Given the description of an element on the screen output the (x, y) to click on. 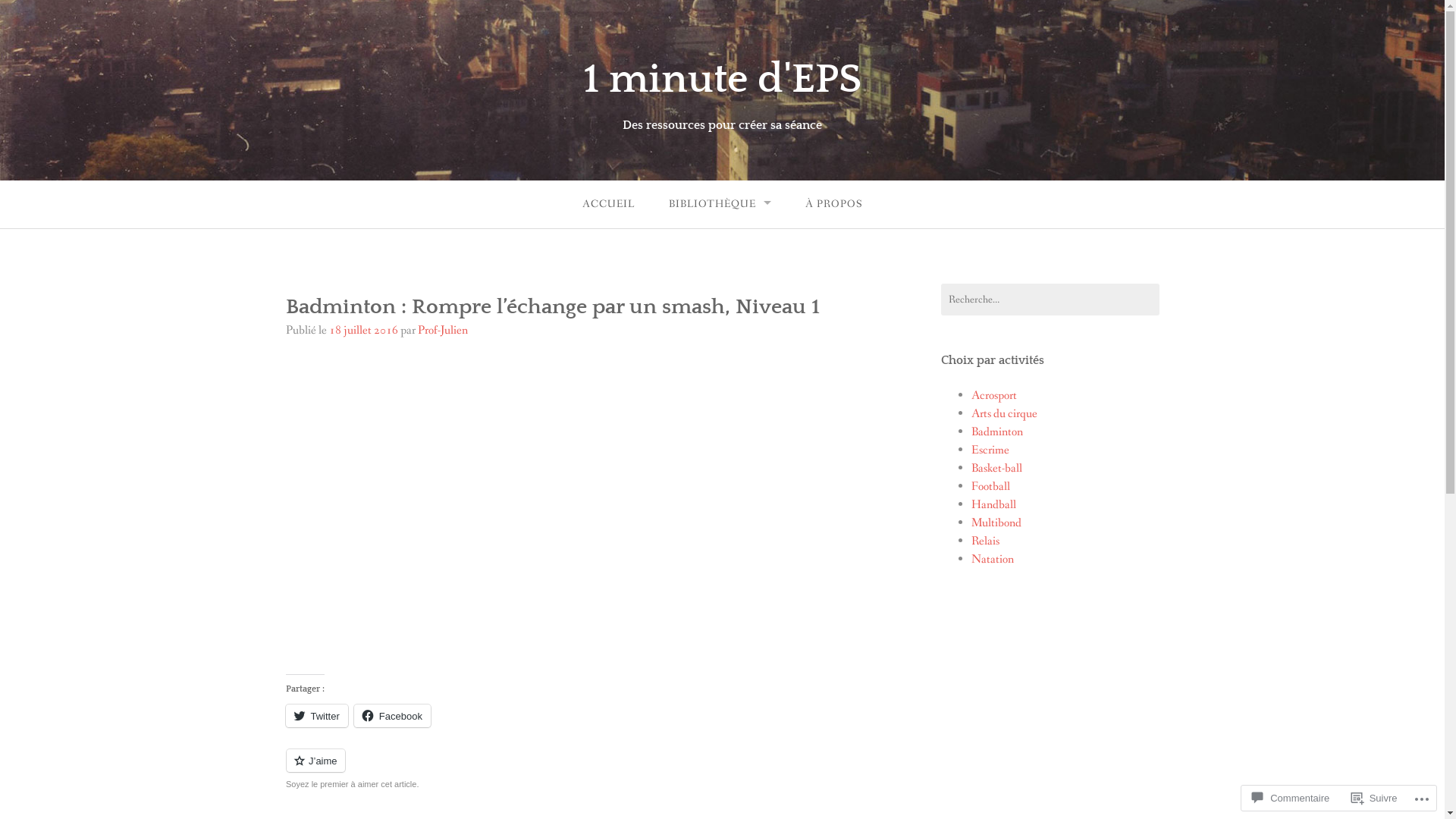
Basket-ball Element type: text (995, 468)
Acrosport Element type: text (993, 395)
Multibond Element type: text (995, 522)
Badminton Element type: text (996, 431)
Natation Element type: text (991, 559)
Arts du cirque Element type: text (1003, 413)
Football Element type: text (989, 486)
Handball Element type: text (992, 504)
1 minute d'EPS Element type: text (722, 79)
Prof-Julien Element type: text (442, 330)
18 juillet 2016 Element type: text (363, 330)
Suivre Element type: text (1374, 797)
Facebook Element type: text (392, 715)
Aimer ou rebloguer Element type: hover (569, 769)
Rechercher Element type: text (38, 15)
Escrime Element type: text (989, 450)
Commentaire Element type: text (1290, 797)
ACCUEIL Element type: text (608, 204)
Twitter Element type: text (316, 715)
Relais Element type: text (984, 541)
